Given the description of an element on the screen output the (x, y) to click on. 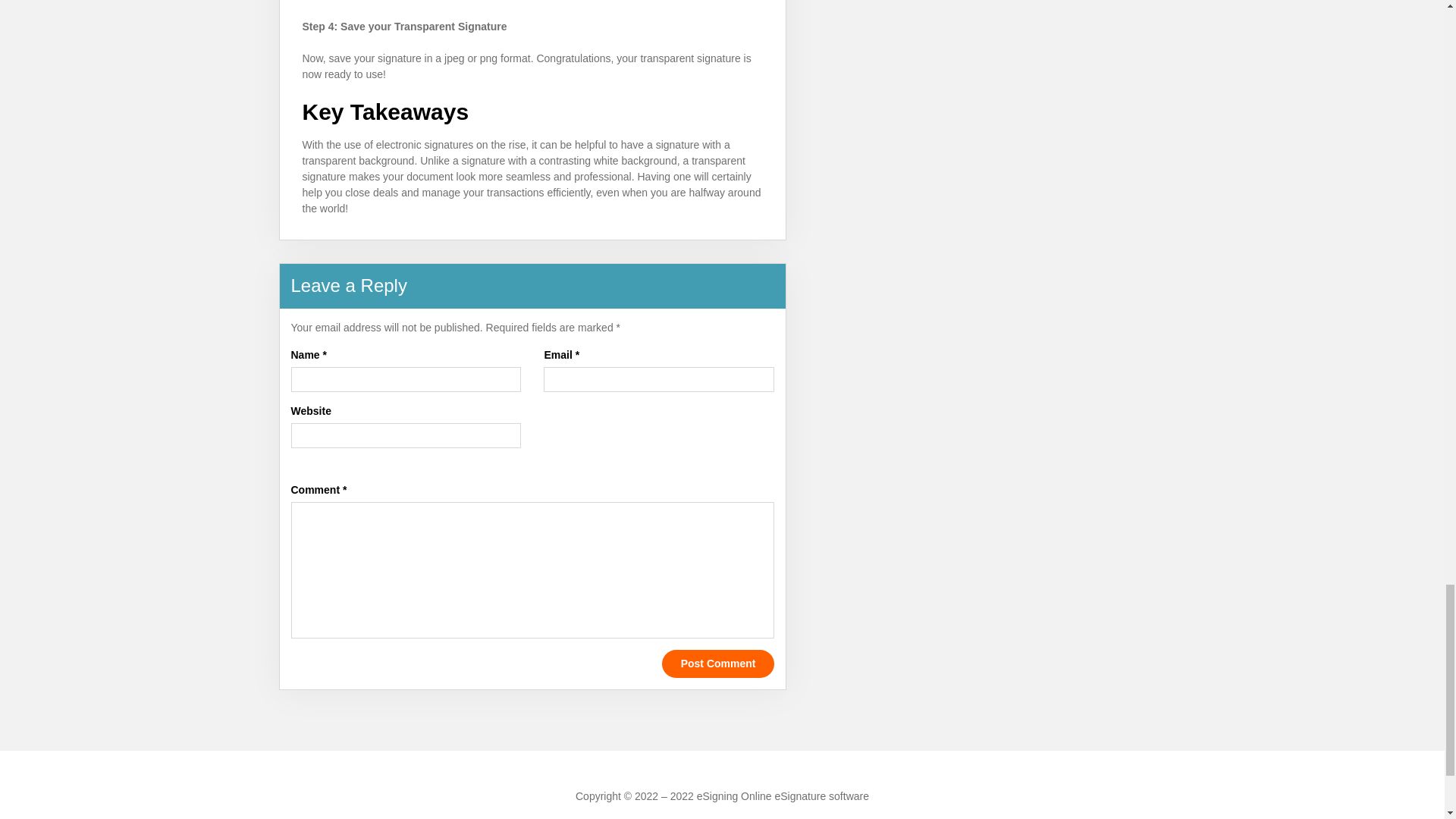
Post Comment (718, 664)
Post Comment (718, 664)
